Given the description of an element on the screen output the (x, y) to click on. 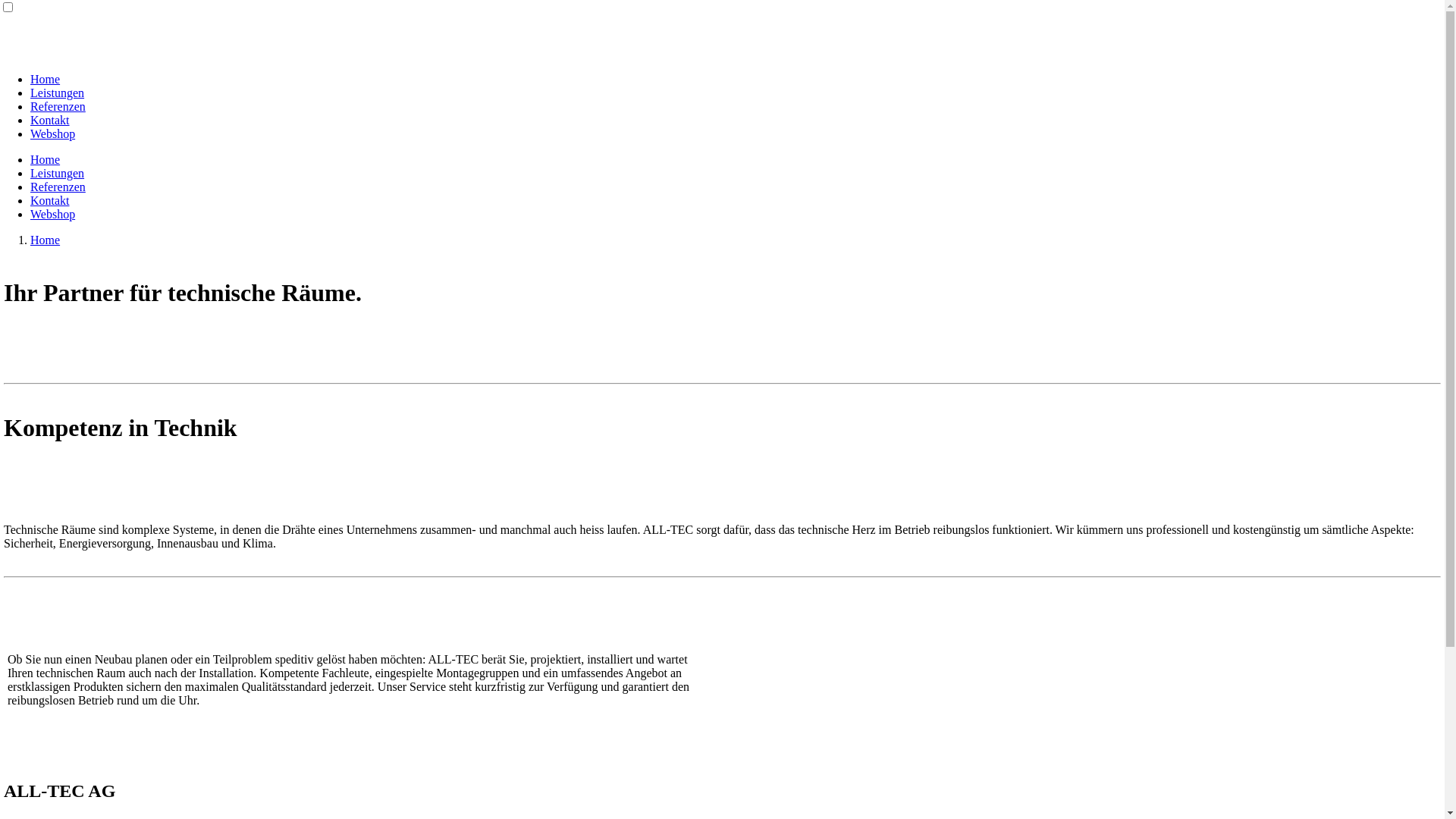
Home Element type: text (44, 239)
Webshop Element type: text (52, 133)
Kontakt Element type: text (49, 200)
Kontakt Element type: text (49, 119)
Leistungen Element type: text (57, 92)
Referenzen Element type: text (57, 186)
Referenzen Element type: text (57, 106)
Home Element type: text (44, 78)
Home Element type: text (44, 159)
Webshop Element type: text (52, 213)
Leistungen Element type: text (57, 172)
